Given the description of an element on the screen output the (x, y) to click on. 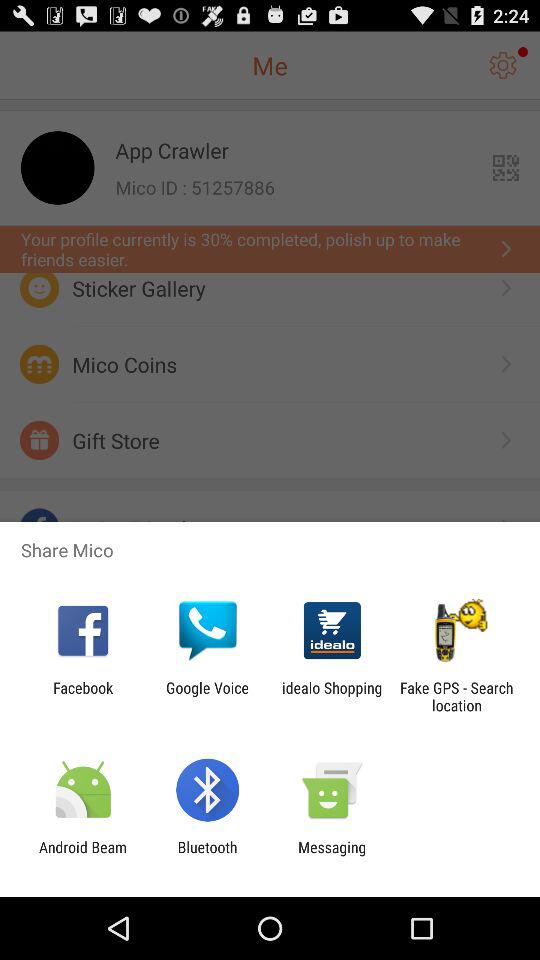
launch app next to facebook (207, 696)
